Given the description of an element on the screen output the (x, y) to click on. 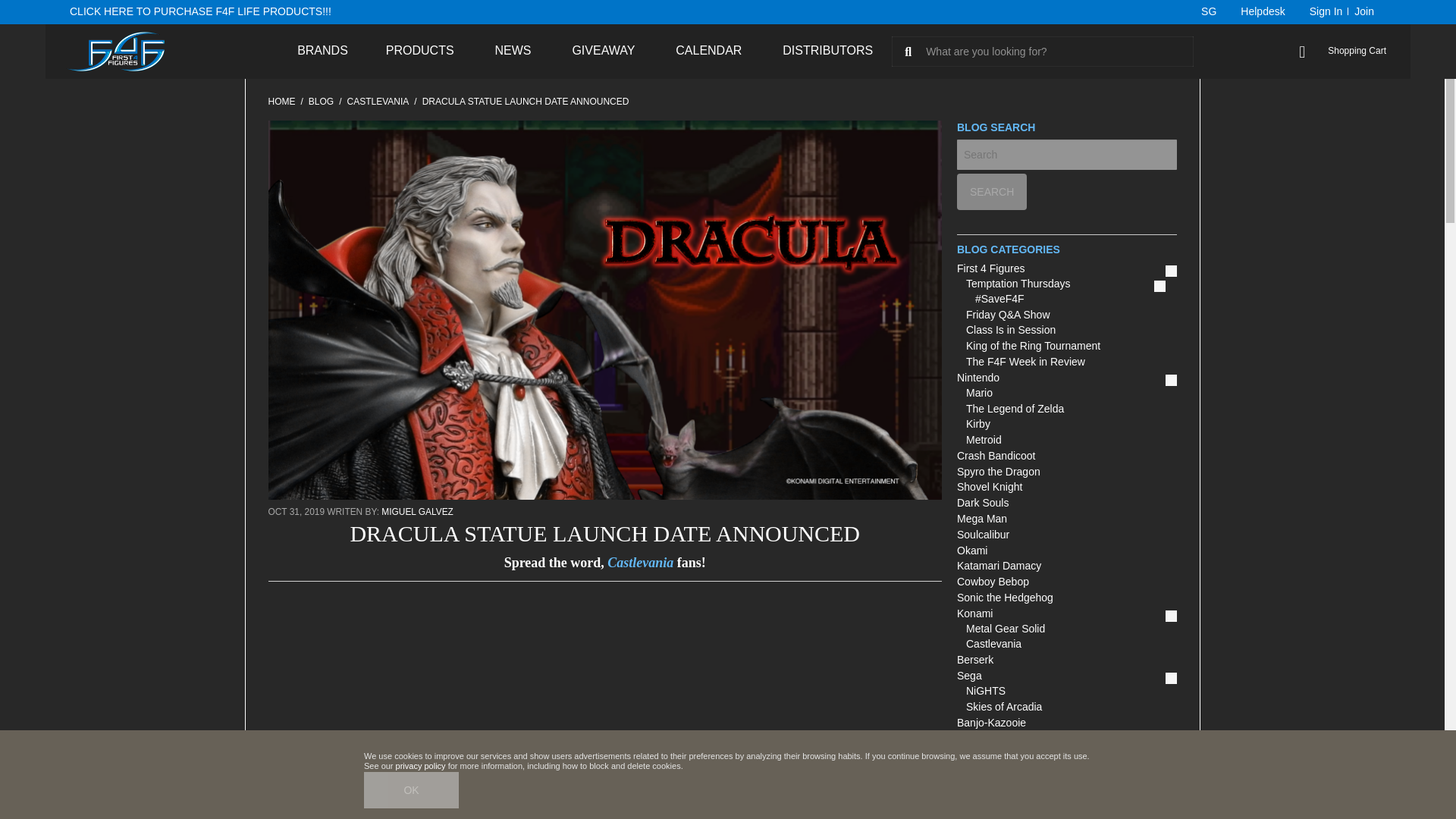
Blog (320, 101)
 SG (1200, 11)
Go to Home Page (281, 101)
Sign In (1323, 11)
Helpdesk (1262, 11)
Miguel Galvez (415, 511)
Castlevania (378, 101)
Join (1364, 11)
Dracula Statue Launch Date Announced (525, 101)
